Given the description of an element on the screen output the (x, y) to click on. 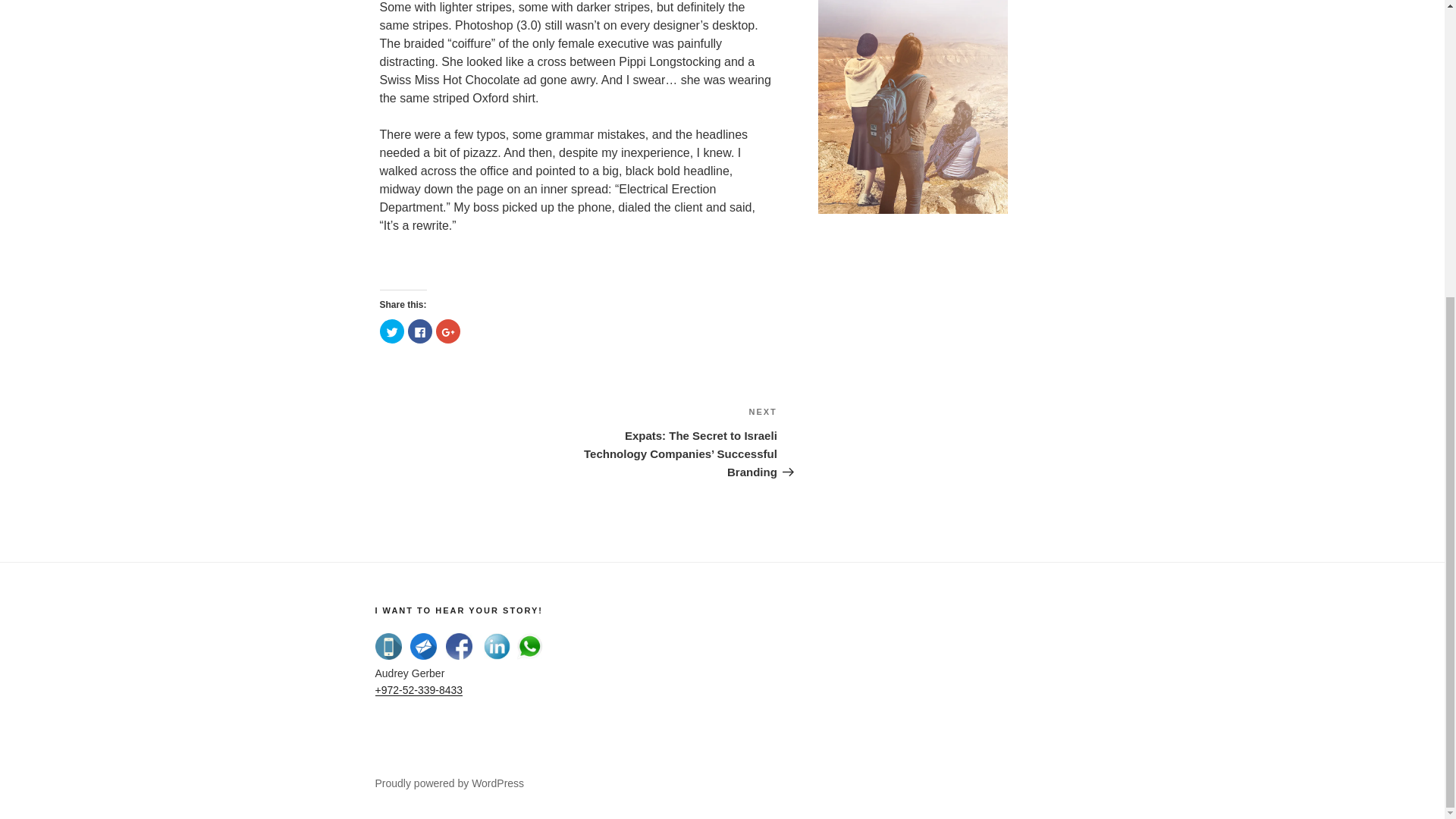
Proudly powered by WordPress (449, 783)
Click to share on Twitter (390, 331)
Click to share on Facebook (419, 331)
